Given the description of an element on the screen output the (x, y) to click on. 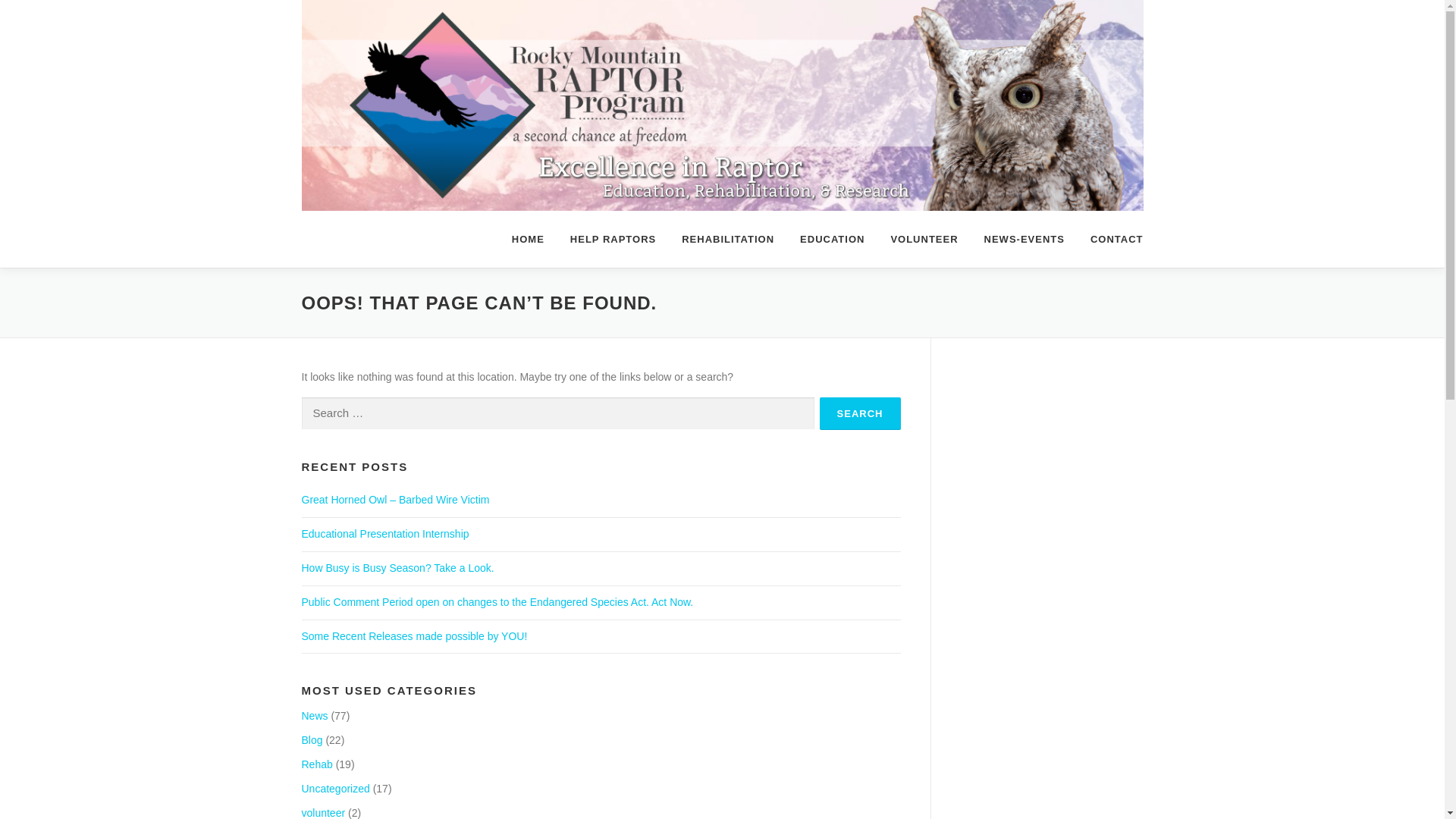
REHABILITATION (727, 238)
HOME (528, 238)
Search (860, 413)
HELP RAPTORS (612, 238)
Search (860, 413)
